Given the description of an element on the screen output the (x, y) to click on. 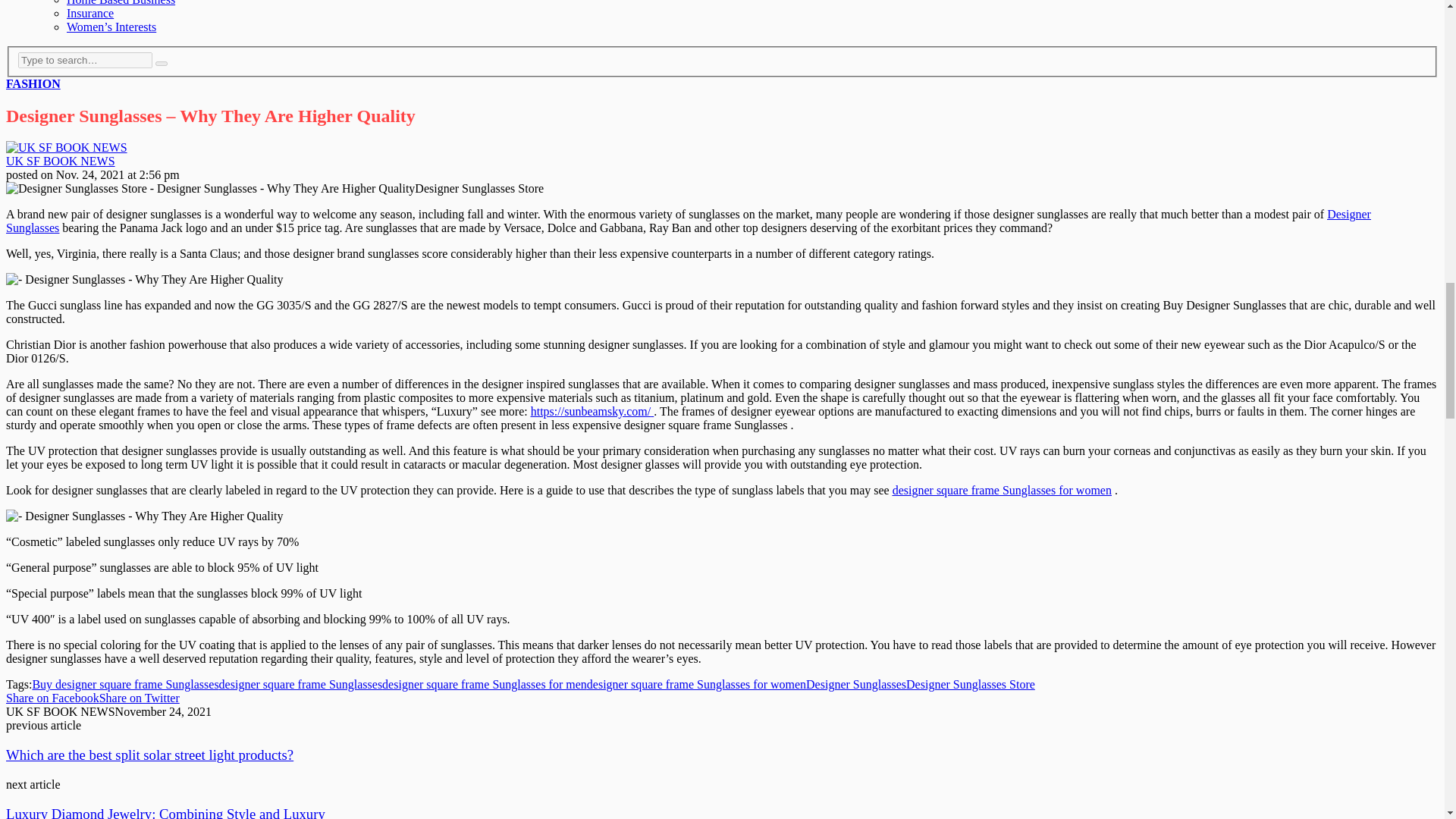
Buy designer square frame Sunglasses (125, 684)
designer square frame Sunglasses (300, 684)
Designer Sunglasses (855, 684)
Designer Sunglasses Store (970, 684)
Fashion (33, 83)
designer square frame Sunglasses for women (696, 684)
Which are the best split solar street light products? (149, 754)
designer square frame Sunglasses for men (483, 684)
